Given the description of an element on the screen output the (x, y) to click on. 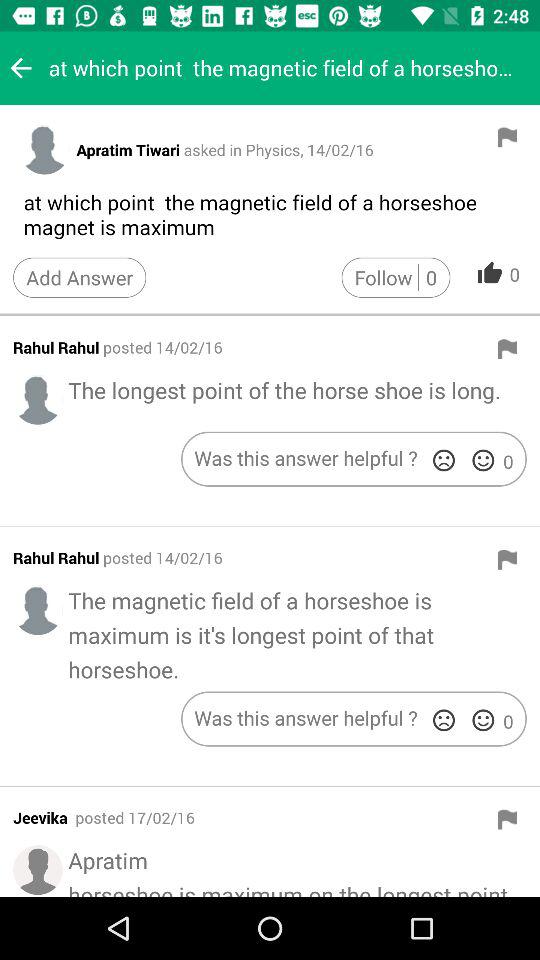
rate answer unhelpful (443, 460)
